Given the description of an element on the screen output the (x, y) to click on. 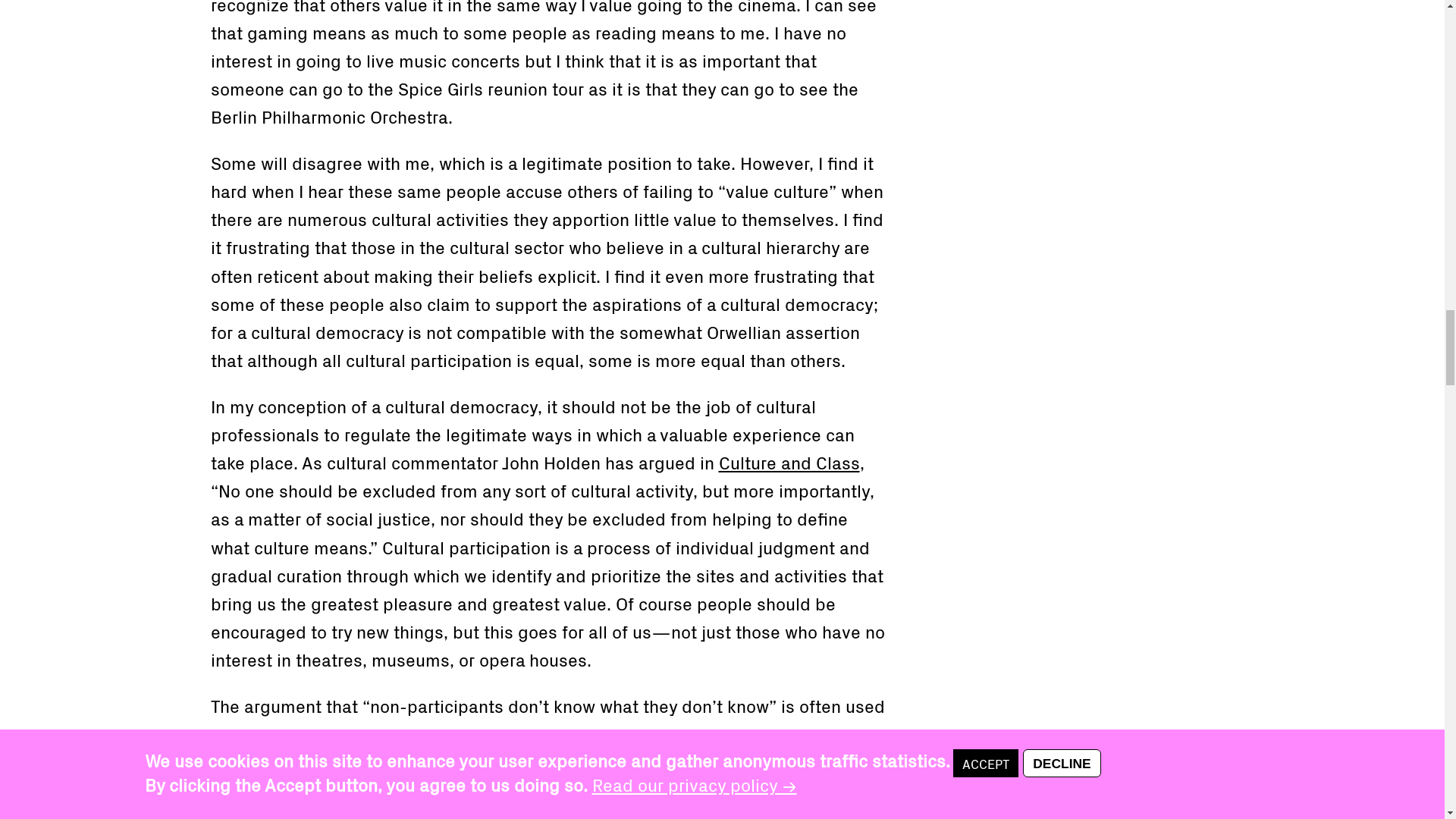
Culture and Class (789, 461)
